Given the description of an element on the screen output the (x, y) to click on. 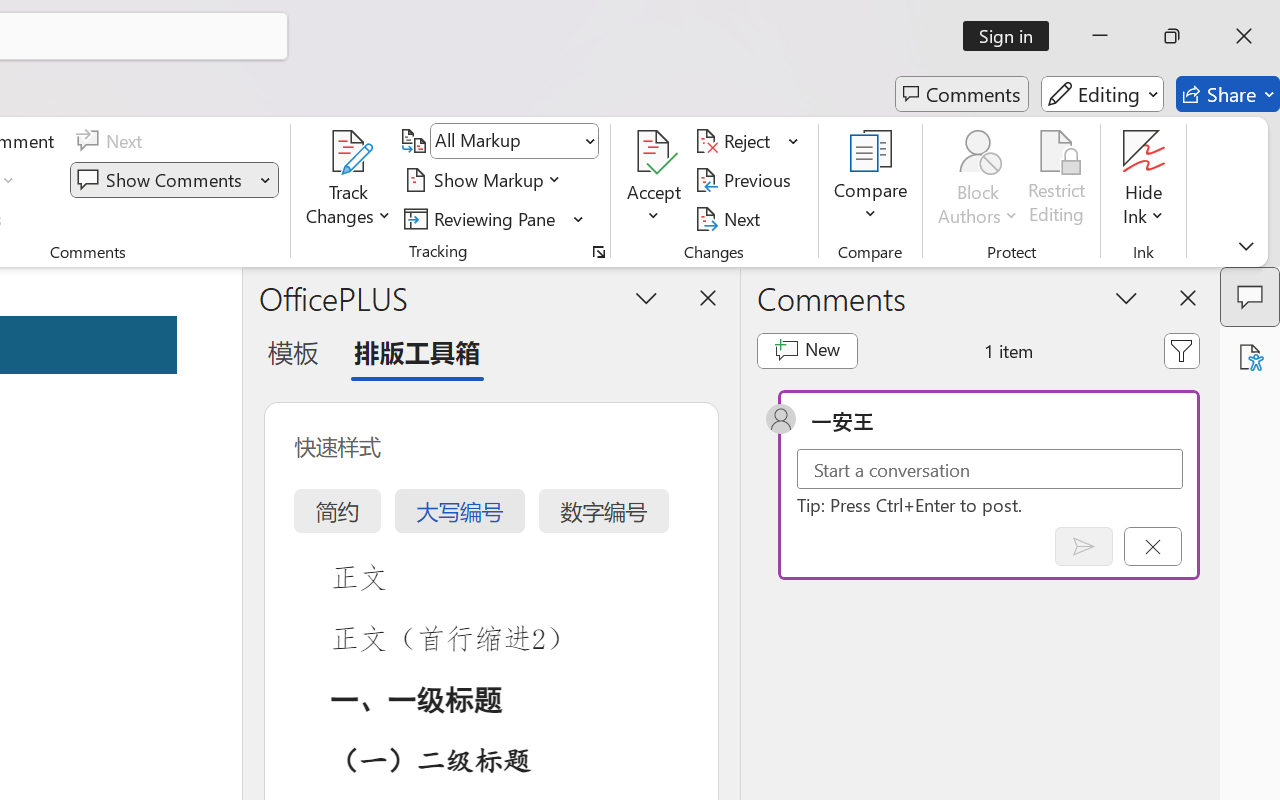
Change Tracking Options... (598, 252)
Show Comments (174, 179)
Show Markup (485, 179)
